Given the description of an element on the screen output the (x, y) to click on. 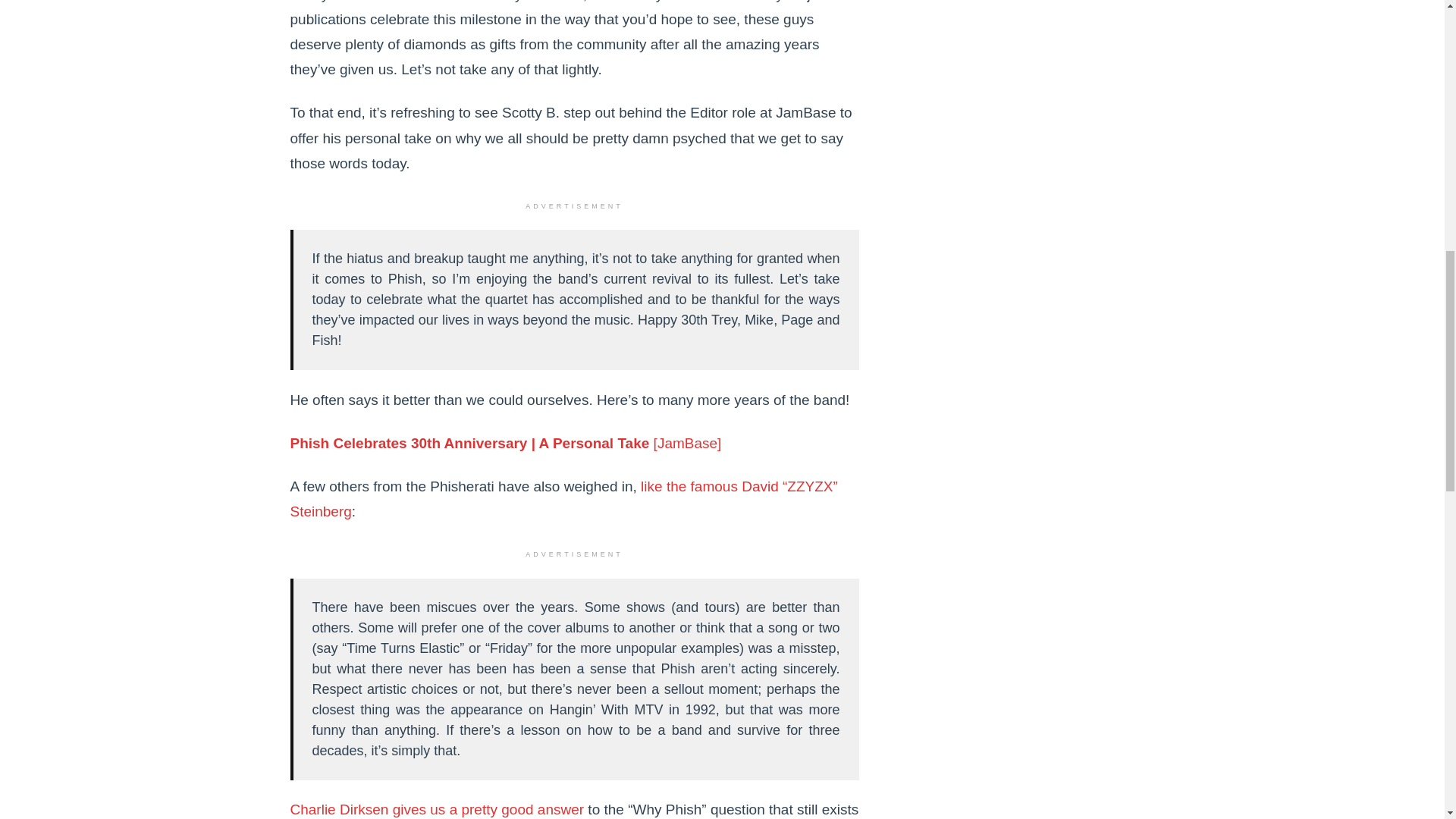
Charlie Dirksen gives us a pretty good answer (436, 809)
